Given the description of an element on the screen output the (x, y) to click on. 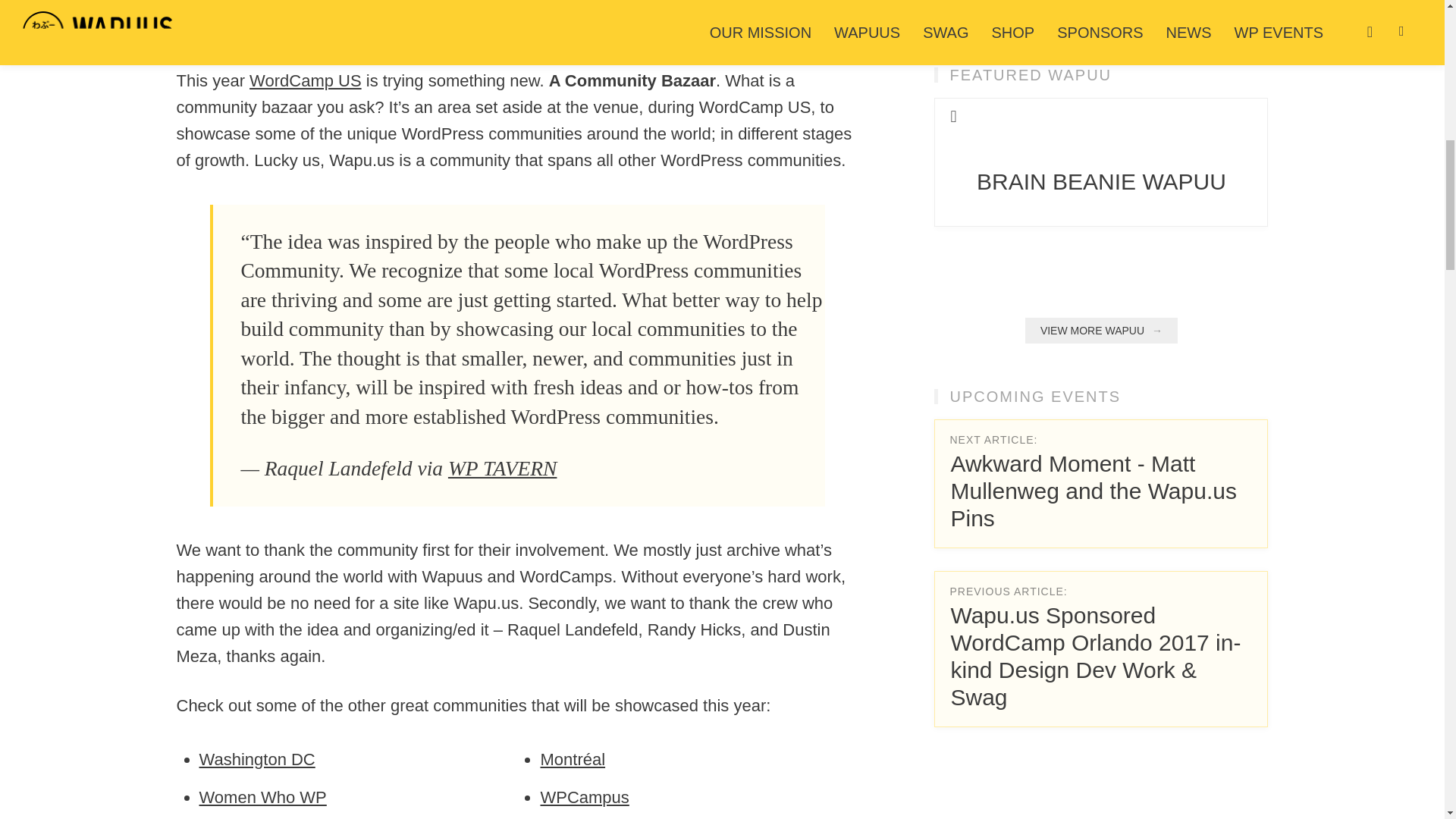
View More Wapuu (1101, 330)
Favorite (952, 116)
